Given the description of an element on the screen output the (x, y) to click on. 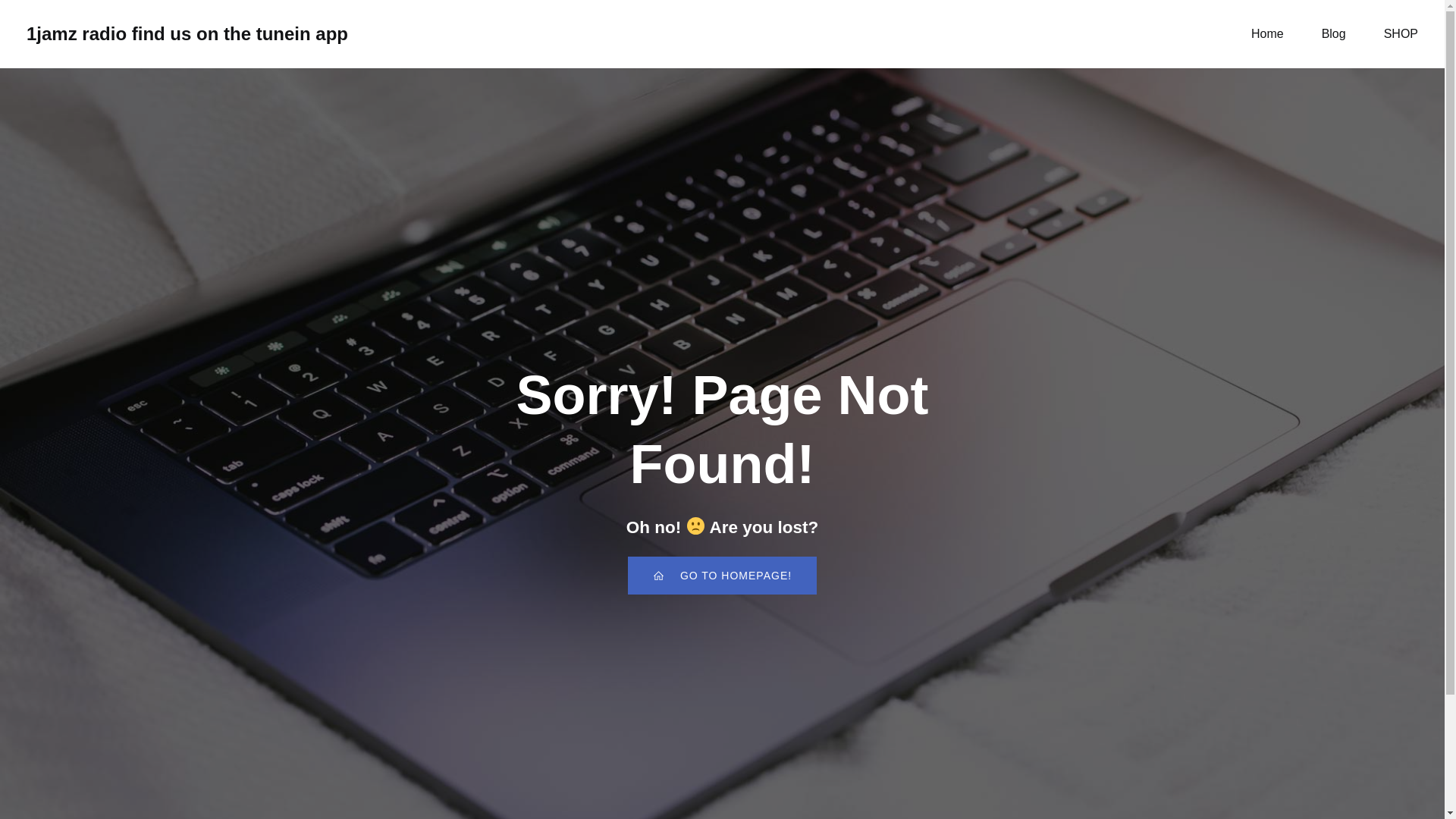
1jamz radio find us on the tunein app (186, 33)
Home (1267, 33)
GO TO HOMEPAGE! (721, 575)
SHOP (1401, 33)
